Given the description of an element on the screen output the (x, y) to click on. 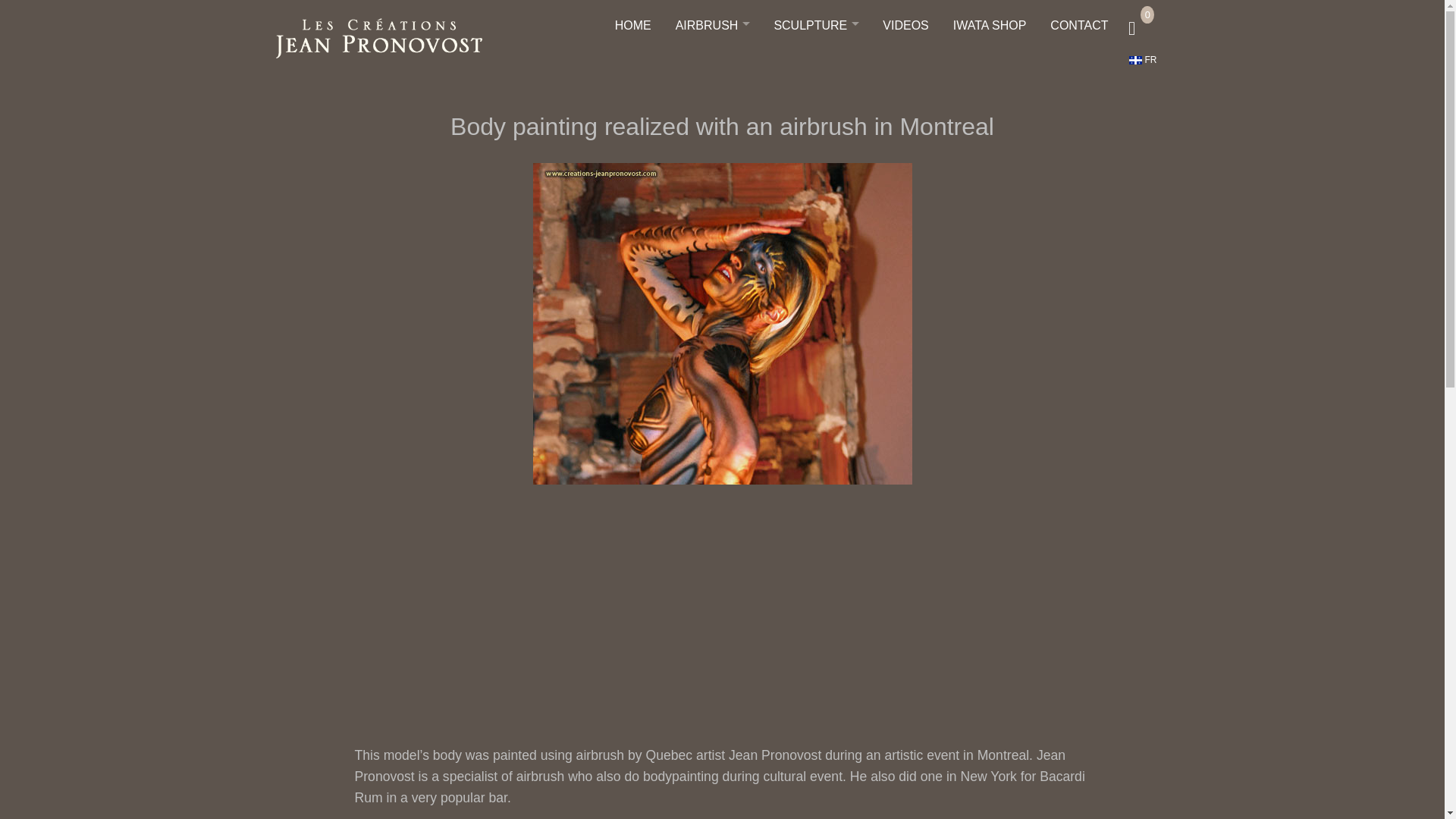
Mural (713, 66)
HOME (632, 25)
Faux-Finish (713, 108)
Airbrush (713, 46)
Airbrush Class (713, 128)
VIDEOS (905, 25)
Sculpture (815, 46)
AIRBRUSH (712, 25)
SCULPTURE (816, 25)
CONTACT (1078, 25)
Ancient Sculptures Shop (815, 66)
IWATA SHOP (989, 25)
Iwata Airbrush Distributor (713, 149)
FR (1142, 59)
Moto (713, 87)
